Given the description of an element on the screen output the (x, y) to click on. 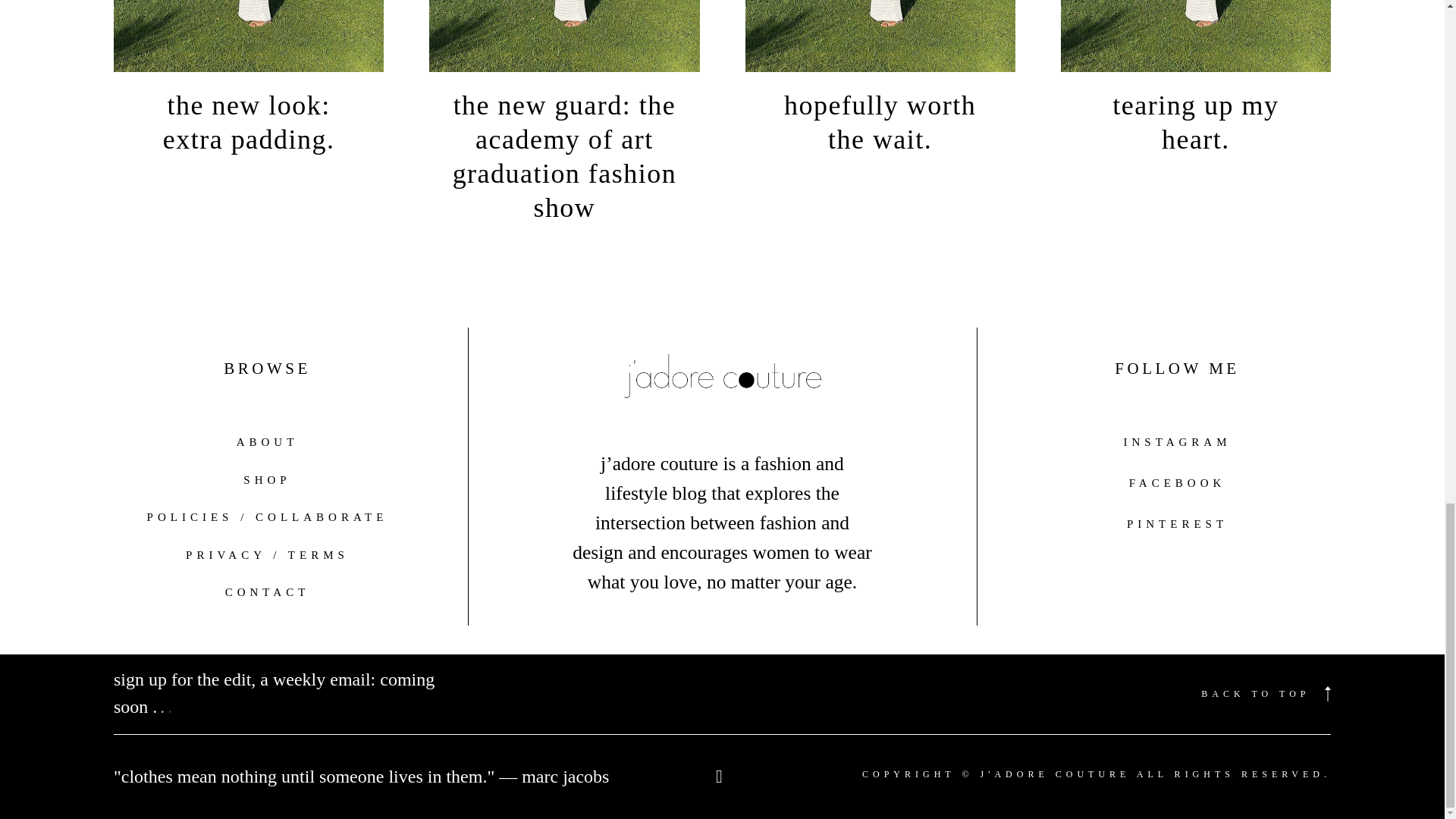
FACEBOOK (1177, 482)
ABOUT (266, 442)
tearing up my heart. (1196, 87)
INSTAGRAM (1177, 441)
the new look: extra padding. (248, 87)
the new guard: the academy of art graduation fashion show (564, 121)
CONTACT (267, 592)
hopefully worth the wait. (879, 87)
SHOP (266, 480)
